Given the description of an element on the screen output the (x, y) to click on. 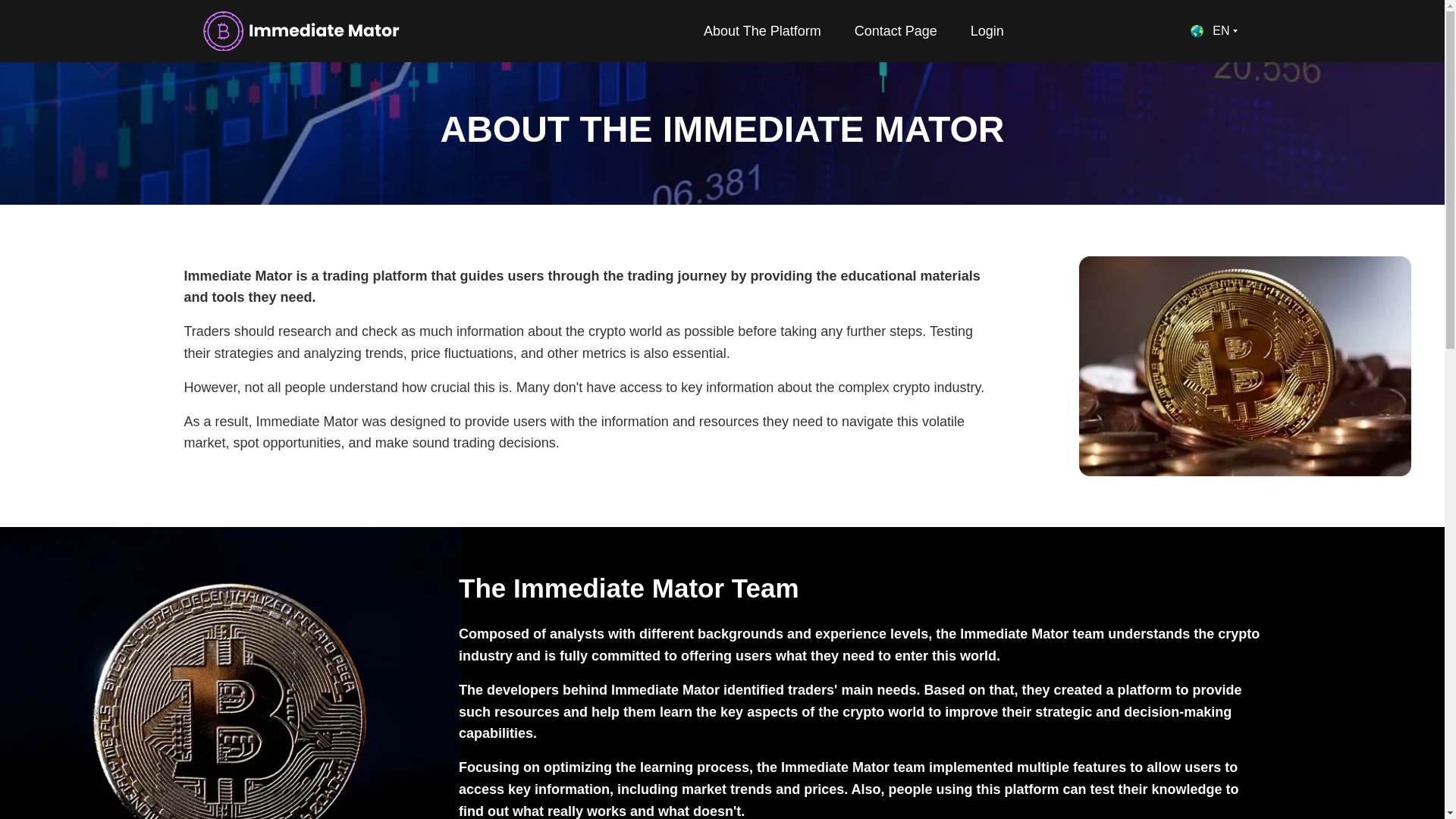
About The Platform (762, 31)
Contact Page (895, 31)
Login (987, 31)
